Given the description of an element on the screen output the (x, y) to click on. 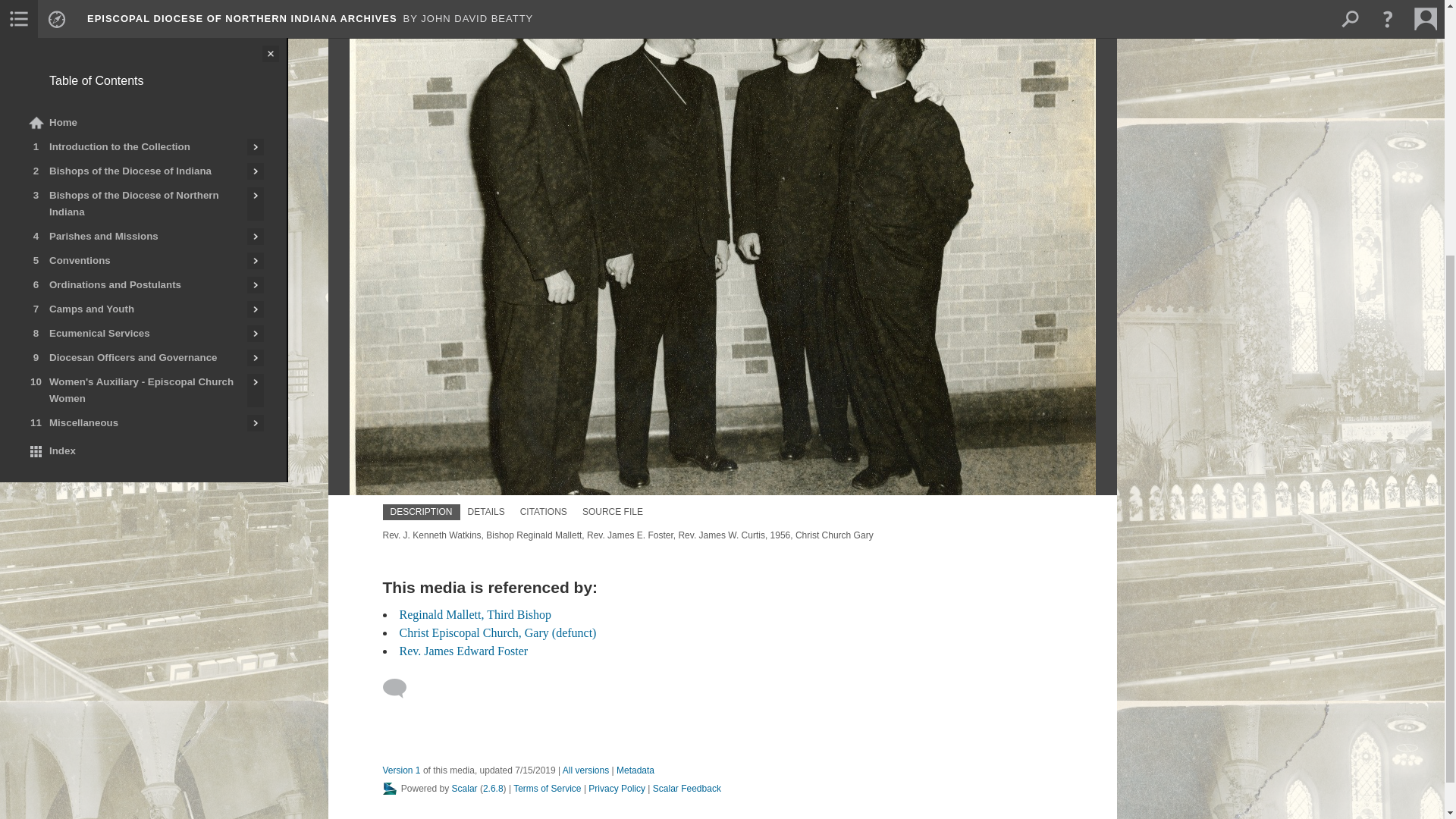
Explore Miscellaneous (255, 43)
Miscellaneous (133, 43)
Women's Auxiliary - Episcopal Church Women (133, 13)
